Given the description of an element on the screen output the (x, y) to click on. 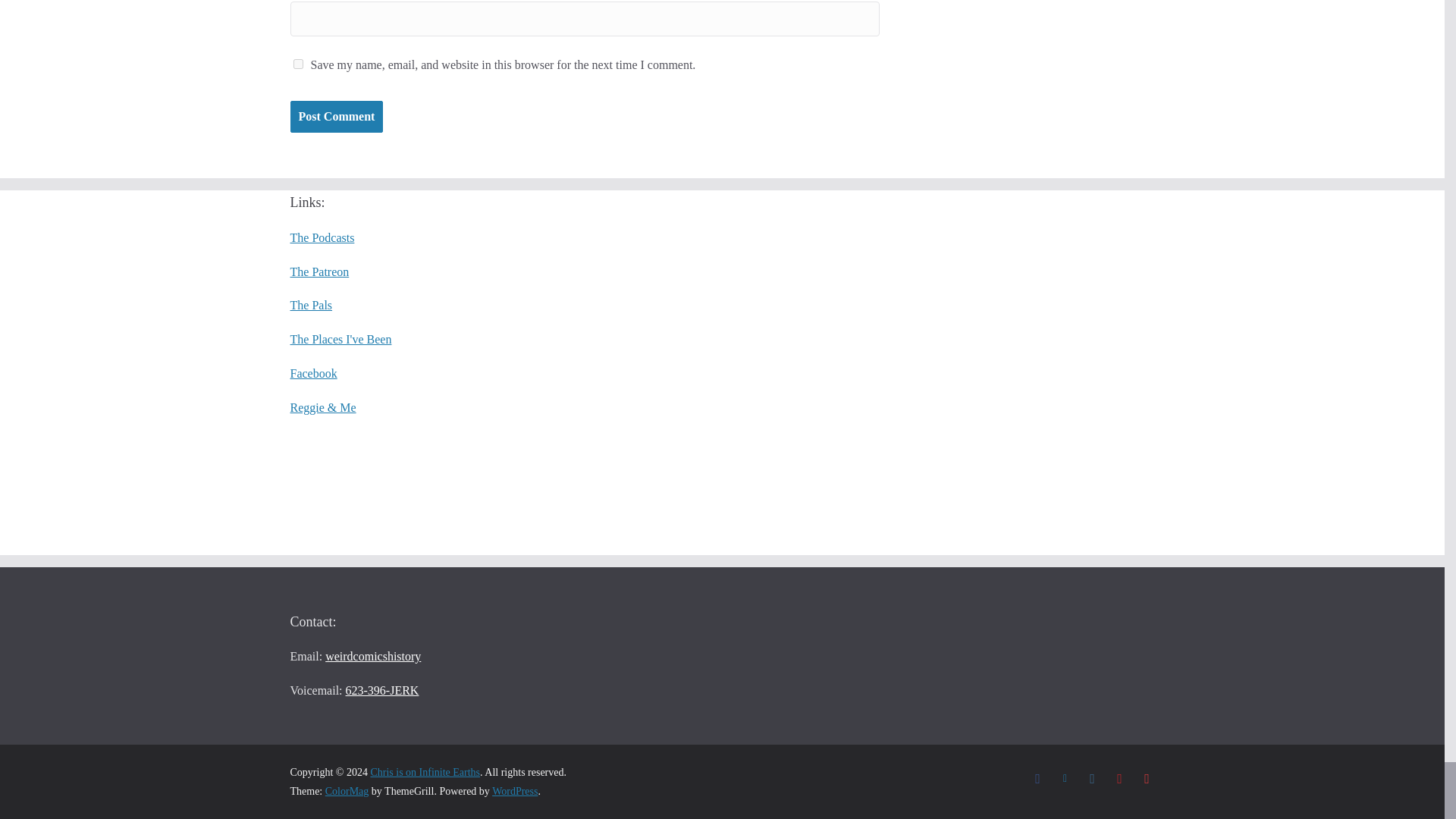
Post Comment (335, 116)
yes (297, 63)
